Given the description of an element on the screen output the (x, y) to click on. 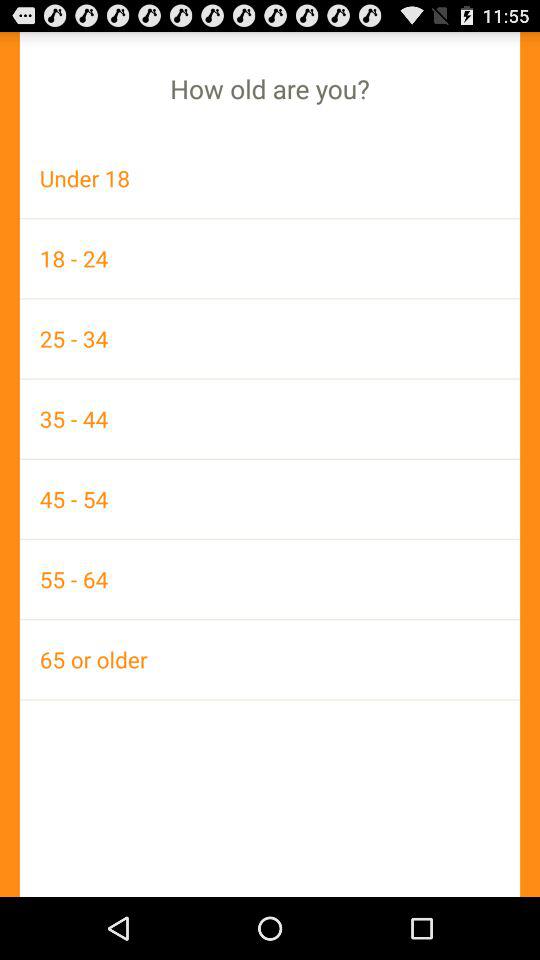
swipe until 55 - 64 icon (269, 579)
